Given the description of an element on the screen output the (x, y) to click on. 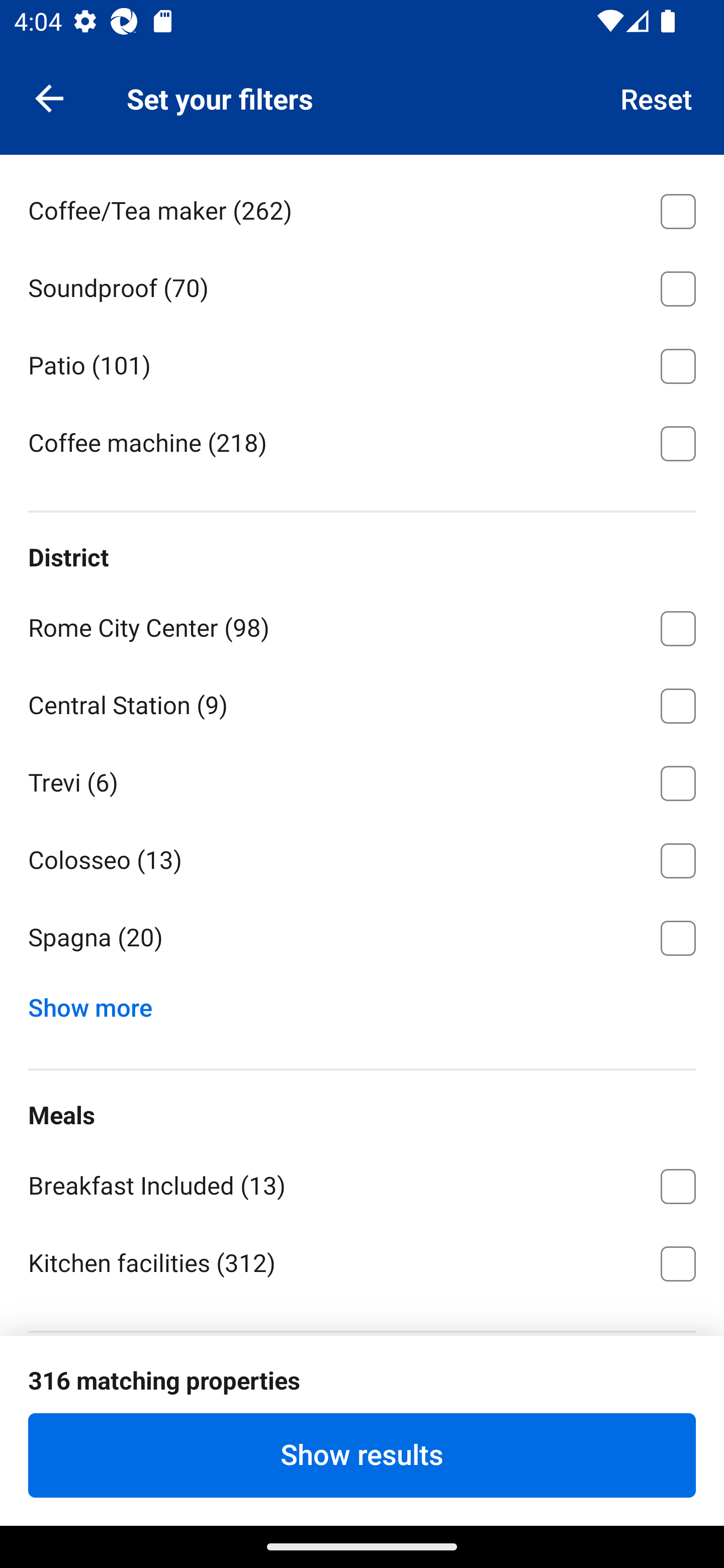
Navigate up (49, 97)
Reset (656, 97)
Coffee/Tea maker ⁦(262) (361, 207)
Soundproof ⁦(70) (361, 285)
Patio ⁦(101) (361, 362)
Coffee machine ⁦(218) (361, 441)
Rome City Center ⁦(98) (361, 624)
Central Station ⁦(9) (361, 702)
Trevi ⁦(6) (361, 779)
Colosseo ⁦(13) (361, 856)
Spagna ⁦(20) (361, 937)
Show more (97, 1002)
Breakfast Included ⁦(13) (361, 1182)
Kitchen facilities ⁦(312) (361, 1262)
Show results (361, 1454)
